Given the description of an element on the screen output the (x, y) to click on. 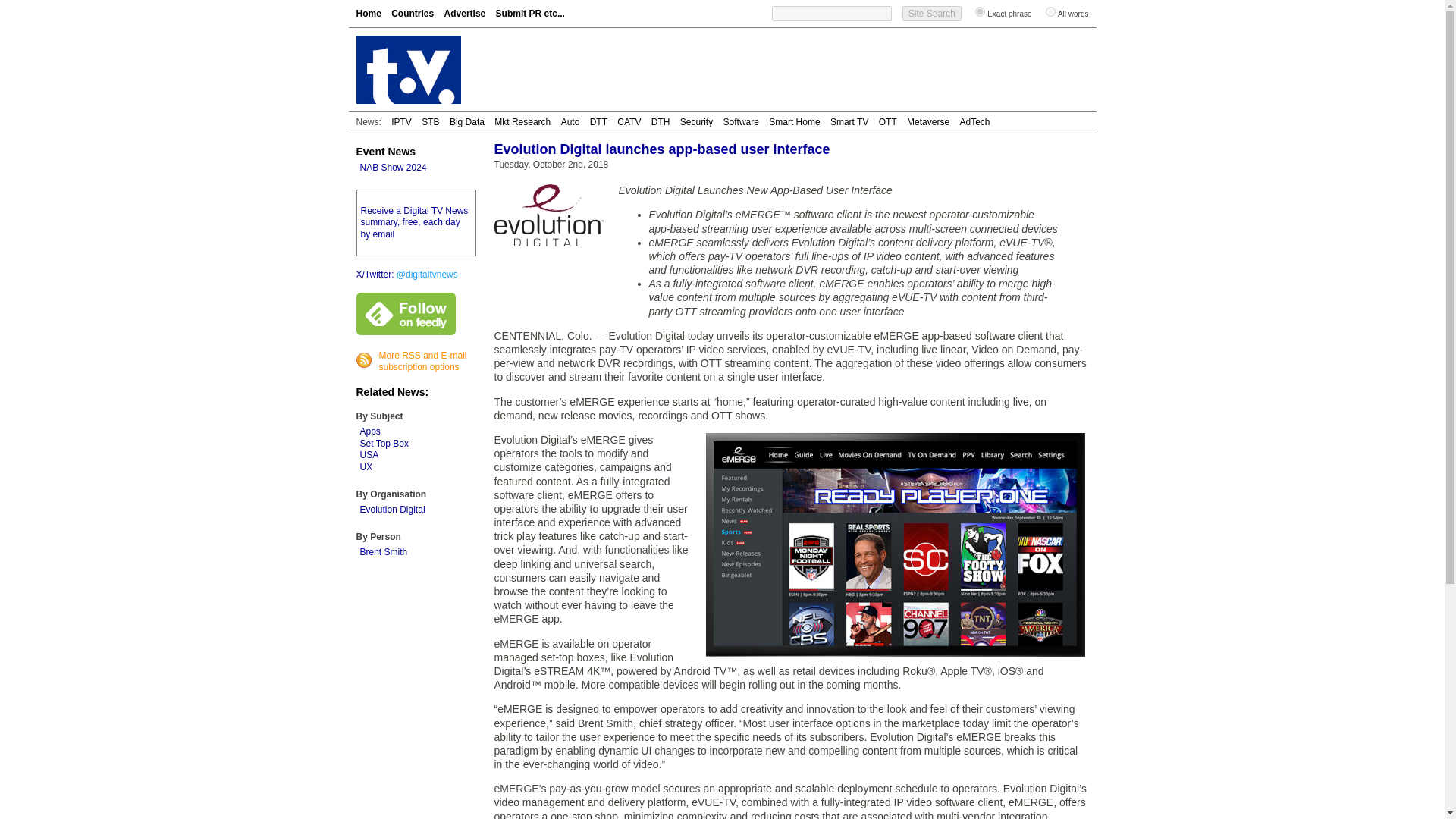
NAB Show 2024 (392, 167)
Digital Cable TV News (628, 122)
Smart Home (793, 122)
Mkt Research (522, 122)
AdTech (974, 122)
DTT (598, 122)
Site Search (931, 13)
DTH (659, 122)
IPTV News (401, 122)
1 (980, 11)
Streaming Video News (887, 122)
Advertisement (813, 70)
Digital TV Software News (740, 122)
Smart TV News (848, 122)
Smart Home News (793, 122)
